Given the description of an element on the screen output the (x, y) to click on. 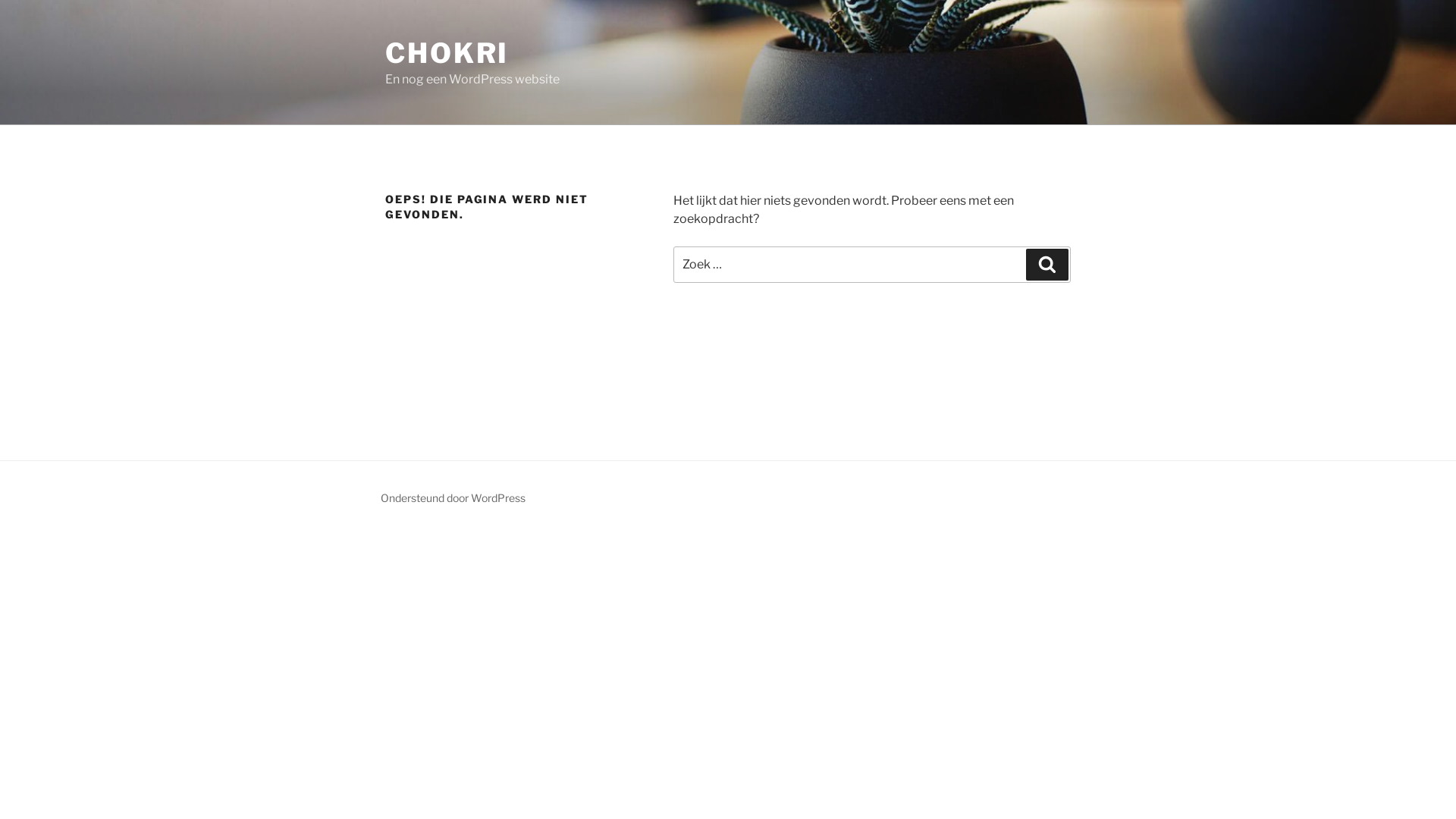
Ondersteund door WordPress Element type: text (452, 497)
Zoek Element type: text (1047, 264)
CHOKRI Element type: text (446, 52)
Spring naar de inhoud Element type: text (0, 0)
